Given the description of an element on the screen output the (x, y) to click on. 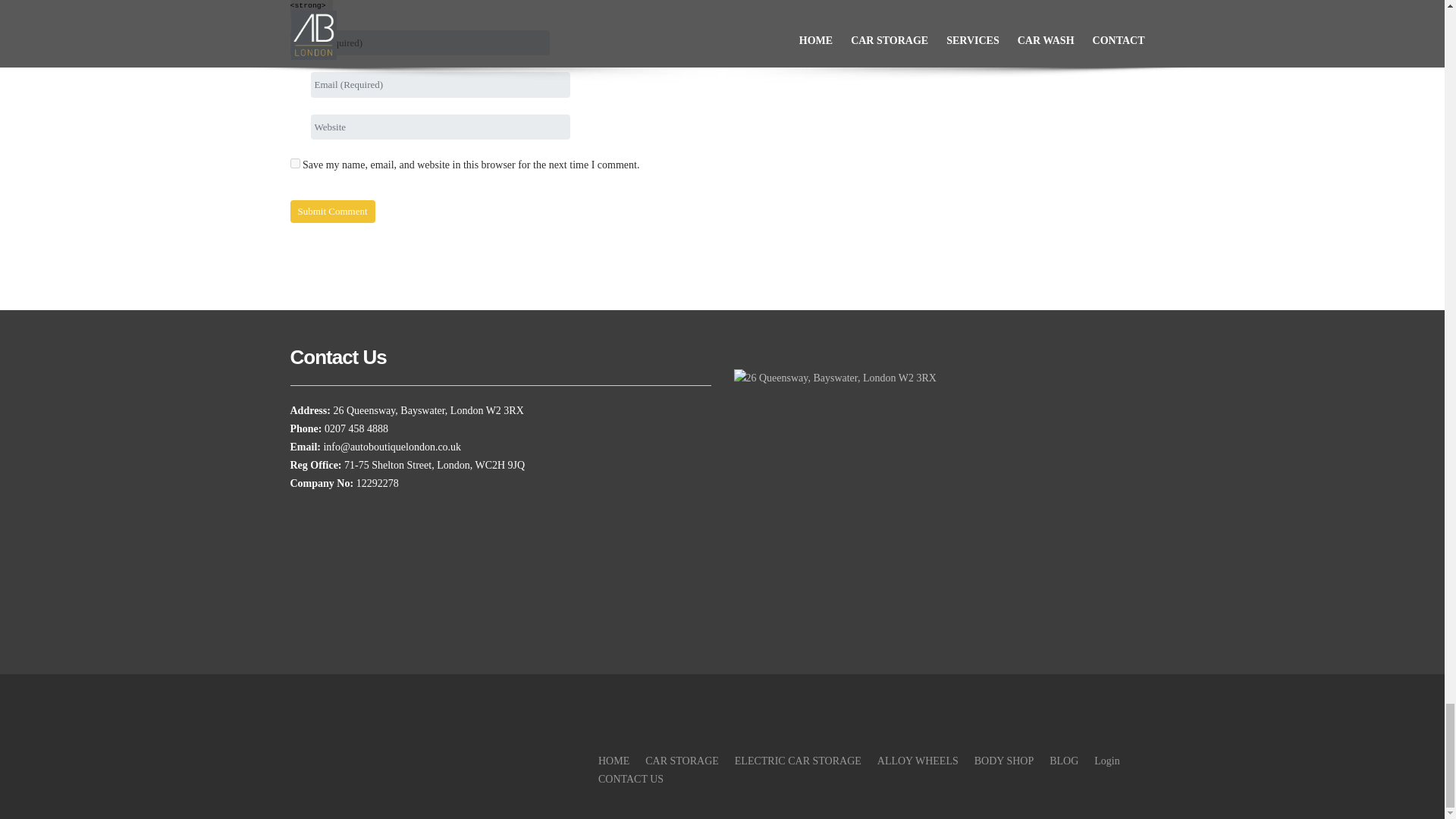
BLOG (1063, 760)
ELECTRIC CAR STORAGE (798, 760)
HOME (613, 760)
CAR STORAGE (682, 760)
Submit Comment (331, 210)
ALLOY WHEELS (917, 760)
yes (294, 163)
Submit Comment (331, 210)
BODY SHOP (1003, 760)
